Given the description of an element on the screen output the (x, y) to click on. 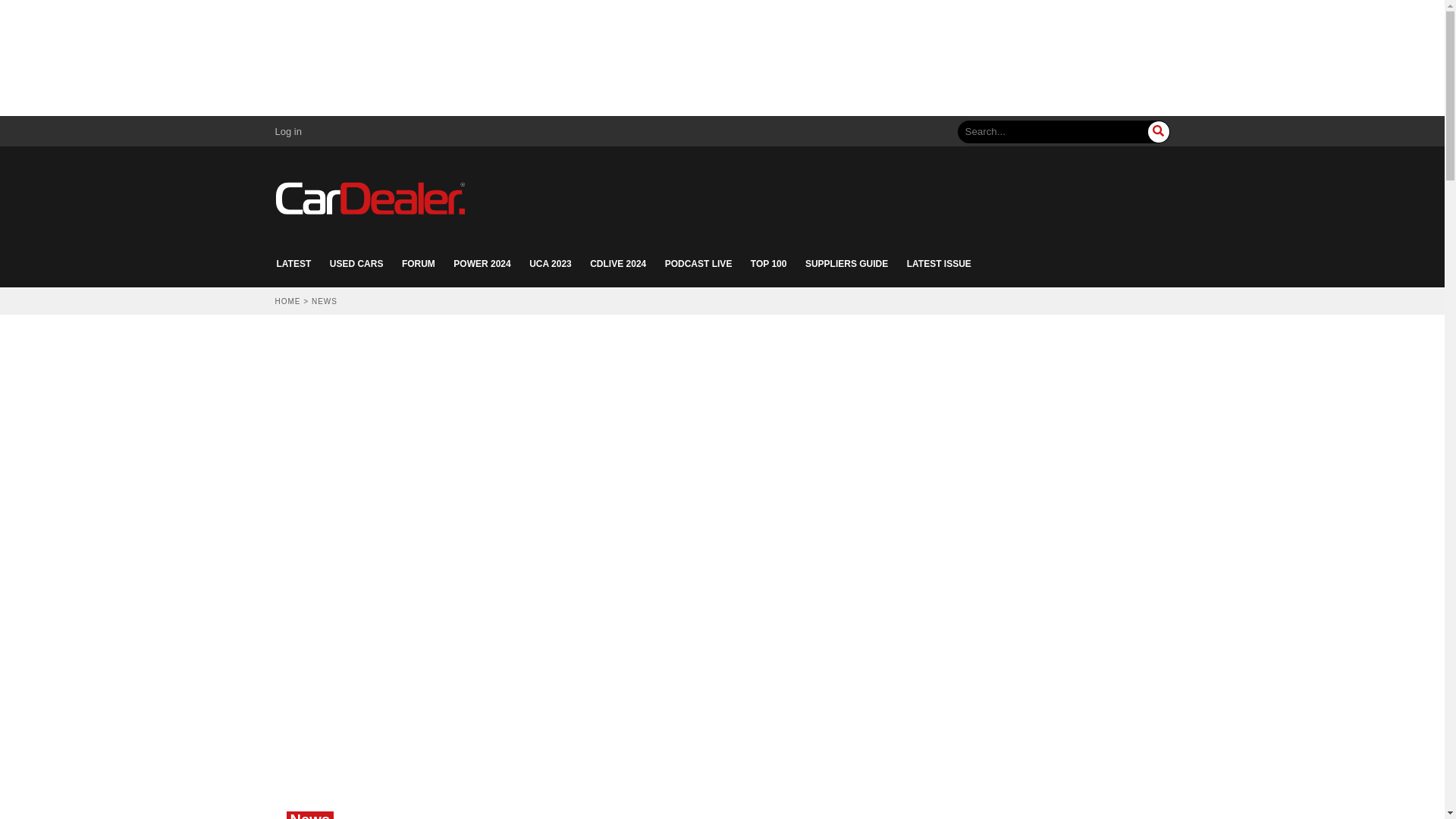
HOME (287, 301)
SUPPLIERS GUIDE (846, 263)
FORUM (418, 263)
TOP 100 (769, 263)
LATEST (293, 263)
UCA 2023 (550, 263)
NEWS (324, 301)
PODCAST LIVE (698, 263)
LATEST ISSUE (939, 263)
USED CARS (357, 263)
